Given the description of an element on the screen output the (x, y) to click on. 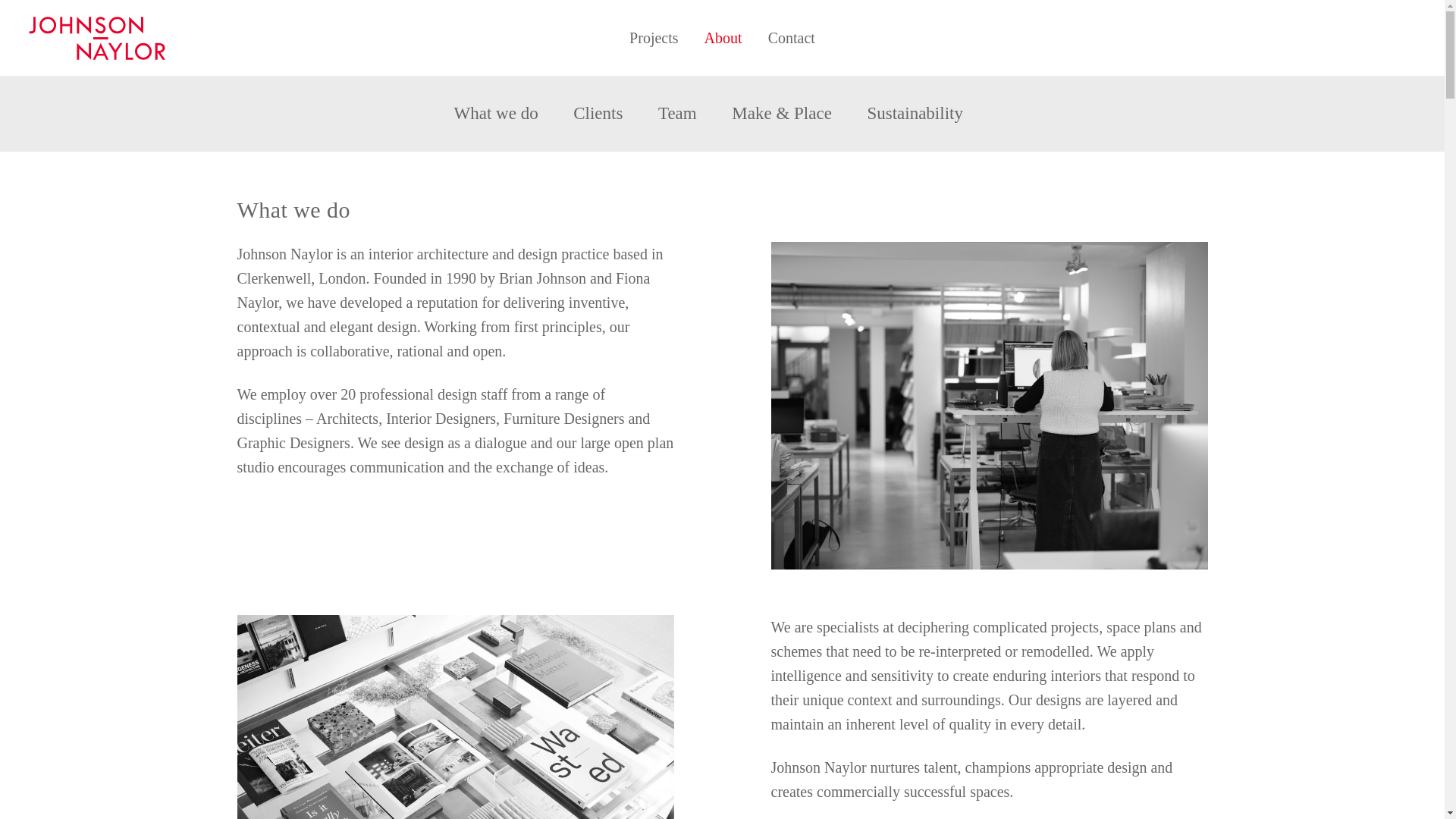
Privacy (740, 700)
Johnson Naylor (139, 37)
Opportunities (755, 646)
Clients (597, 113)
Cookie Settings (760, 720)
Team (676, 113)
Clients (738, 569)
What we do (495, 113)
Home (736, 491)
About (737, 530)
Contact (791, 37)
Team (735, 588)
About (722, 37)
Projects (741, 511)
Contact (741, 626)
